Given the description of an element on the screen output the (x, y) to click on. 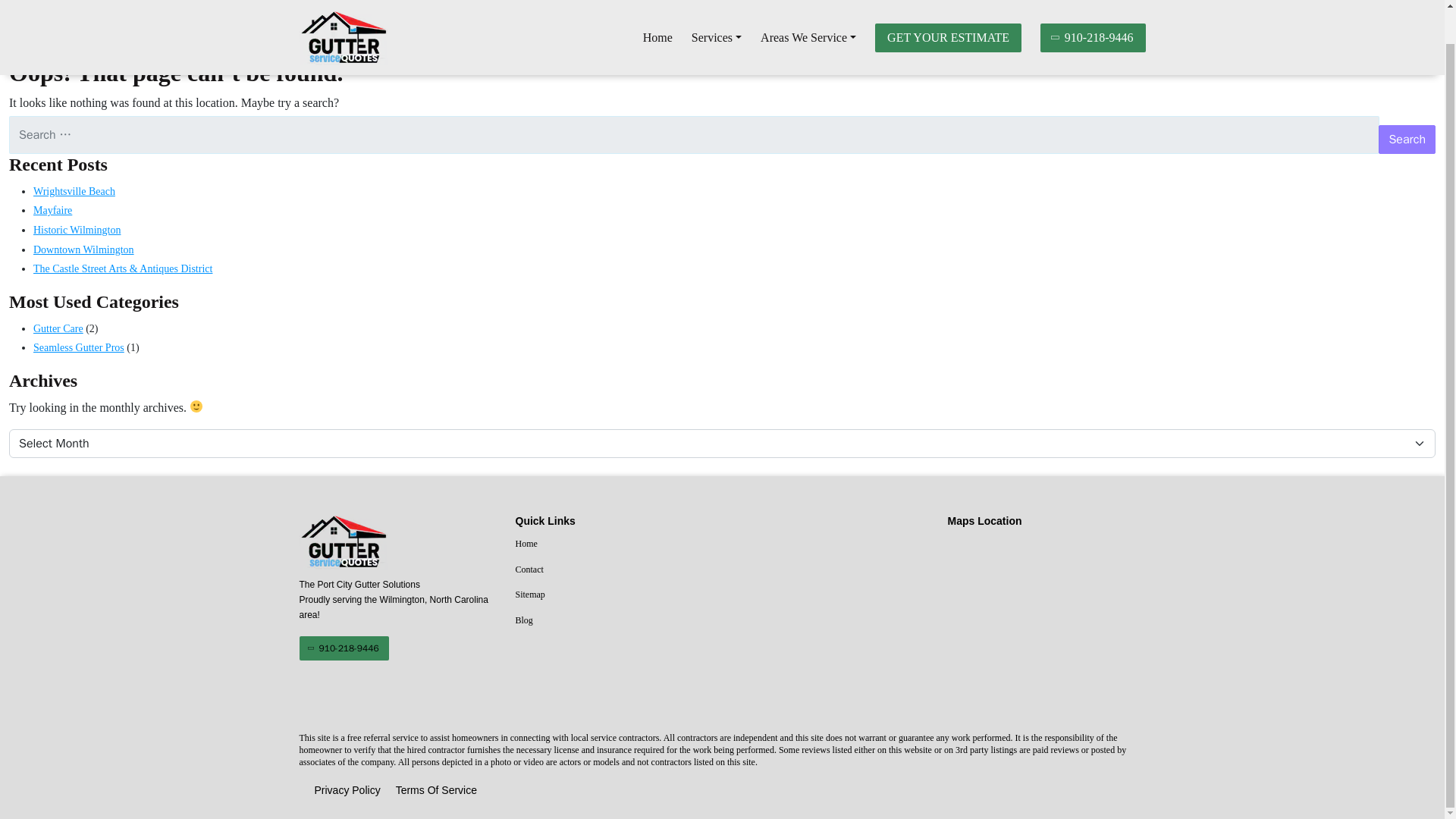
Blog (614, 620)
Historic Wilmington (76, 229)
Downtown Wilmington (83, 249)
Areas We Service (808, 9)
Services (716, 9)
Contact (614, 569)
Search (1406, 139)
Wrightsville Beach (74, 191)
Sitemap (614, 595)
Home (614, 544)
